Given the description of an element on the screen output the (x, y) to click on. 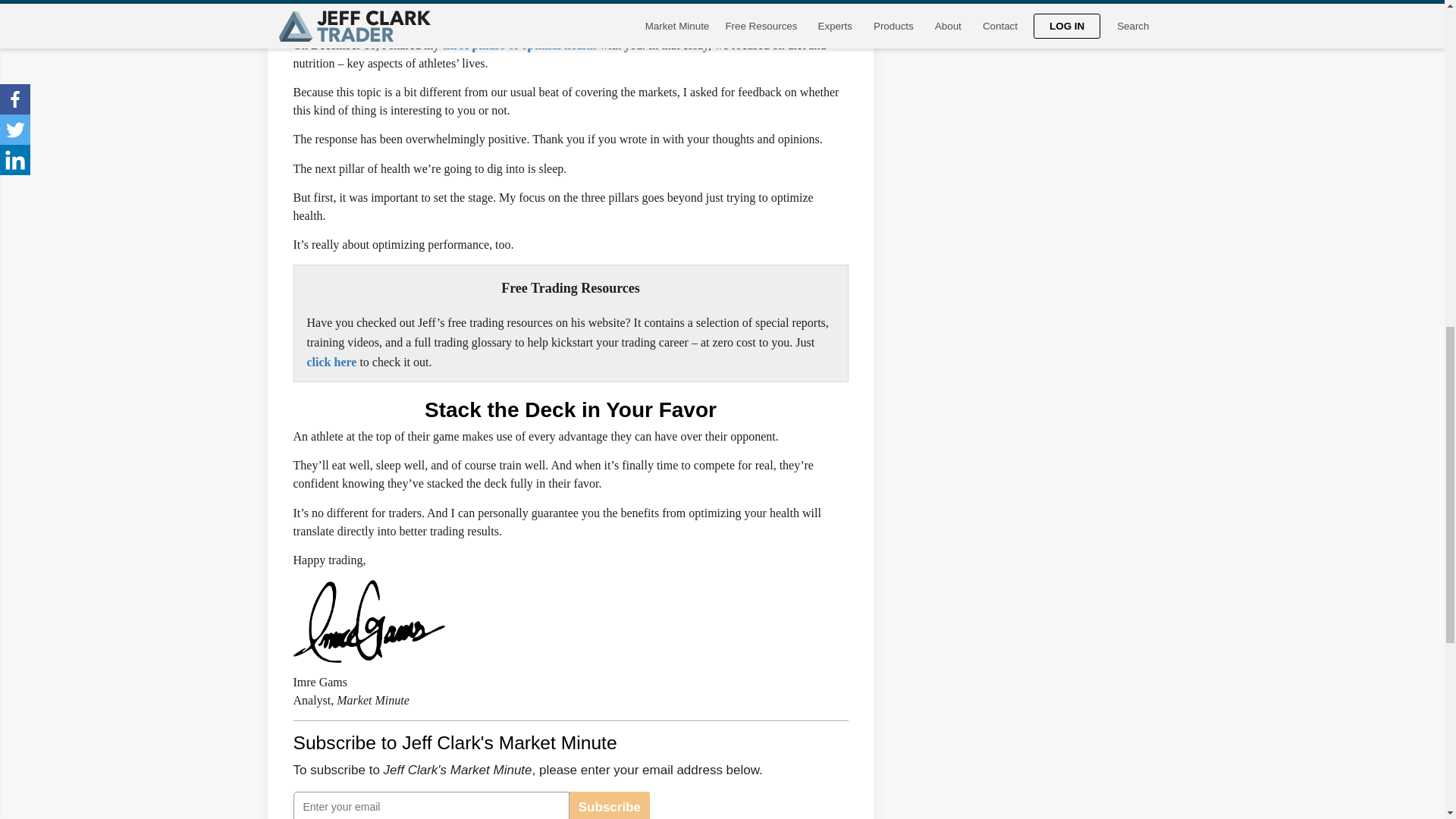
click here (330, 361)
Subscribe (609, 805)
Subscribe (609, 805)
three pillars of optimal health (518, 44)
